Given the description of an element on the screen output the (x, y) to click on. 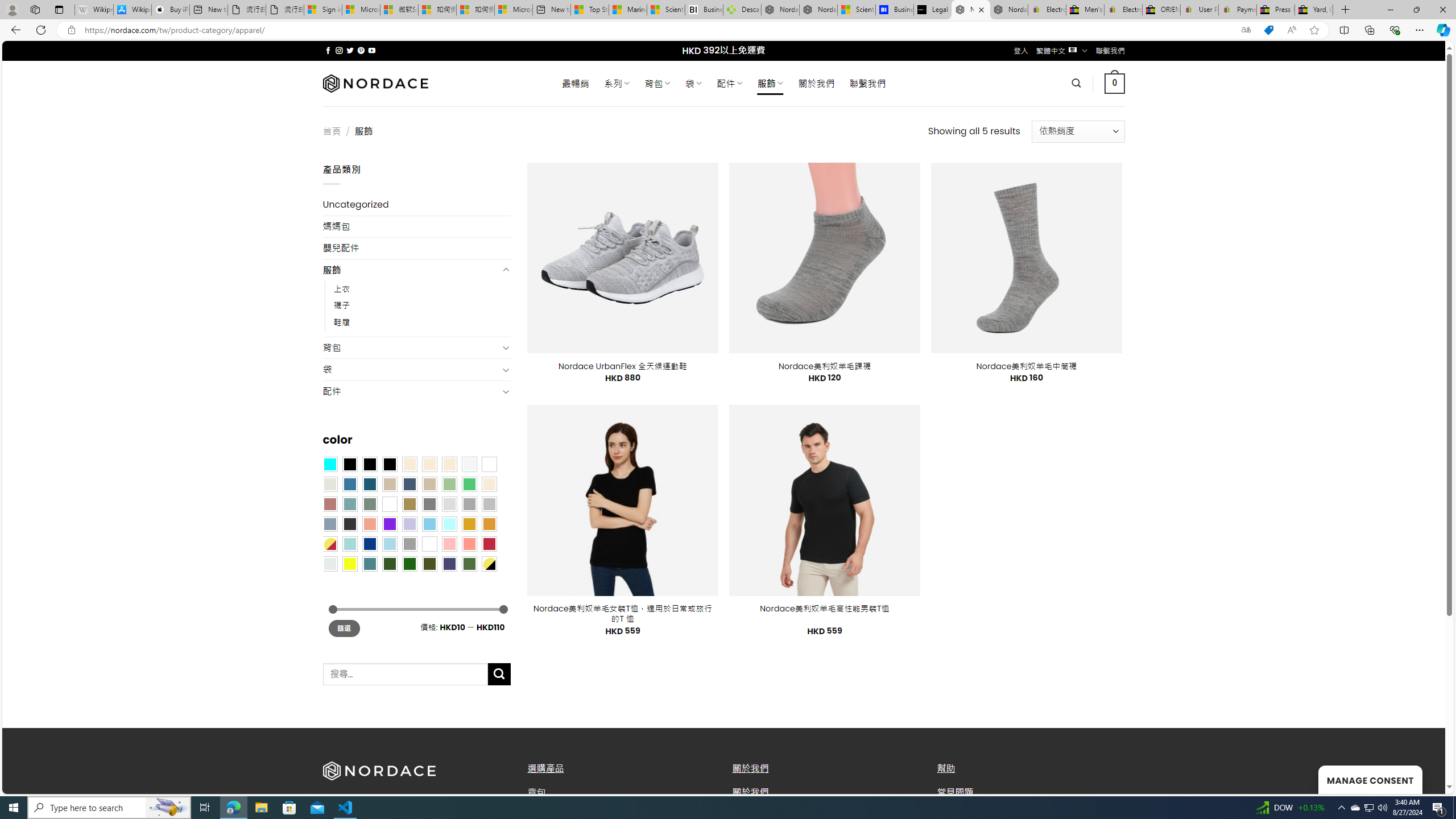
Follow on Twitter (349, 50)
